Given the description of an element on the screen output the (x, y) to click on. 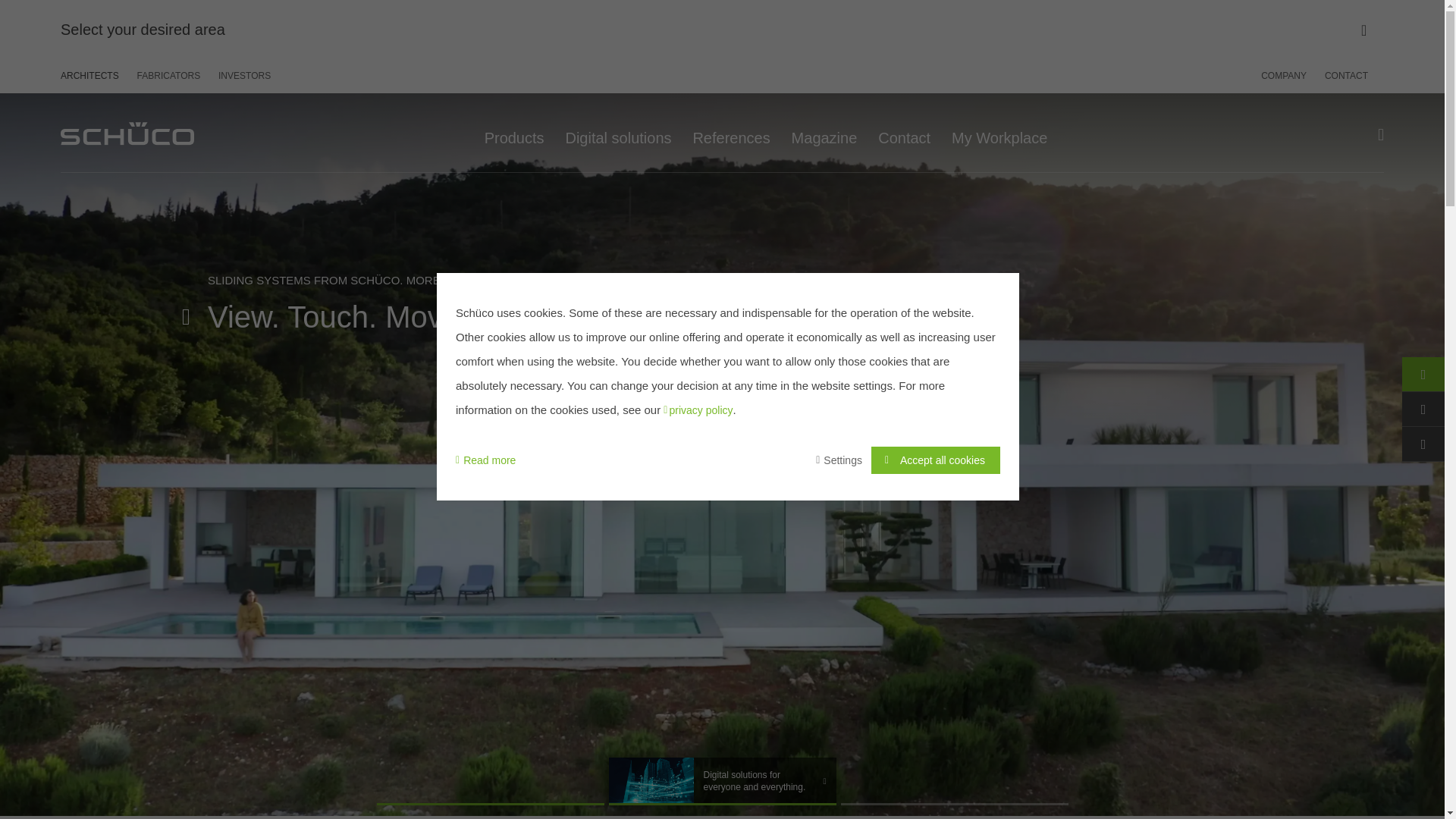
COMPANY (1287, 75)
INVESTORS (240, 75)
Products (514, 132)
Contact (904, 132)
References (730, 132)
CONTACT (1342, 75)
ARCHITECTS (93, 75)
FABRICATORS (168, 75)
Magazine (824, 132)
Digital solutions (617, 132)
My Workplace (999, 132)
